Given the description of an element on the screen output the (x, y) to click on. 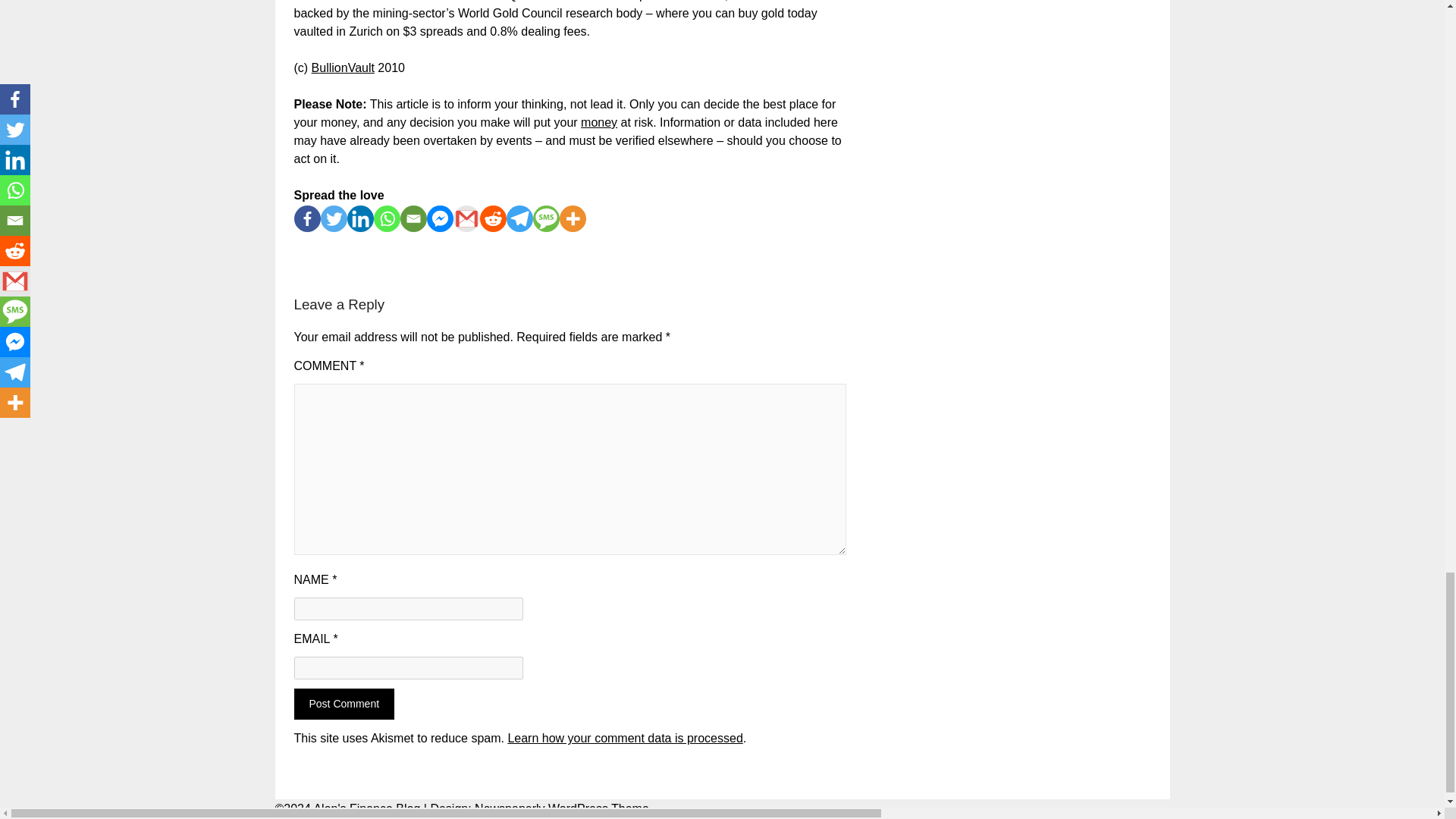
SMS (545, 218)
Whatsapp (385, 218)
More (572, 218)
money (598, 122)
BullionVault (342, 67)
Linkedin (360, 218)
Twitter (333, 218)
Facebook (307, 218)
Post Comment (344, 703)
Telegram (519, 218)
Reddit (492, 218)
Email (413, 218)
Google Gmail (466, 218)
